Given the description of an element on the screen output the (x, y) to click on. 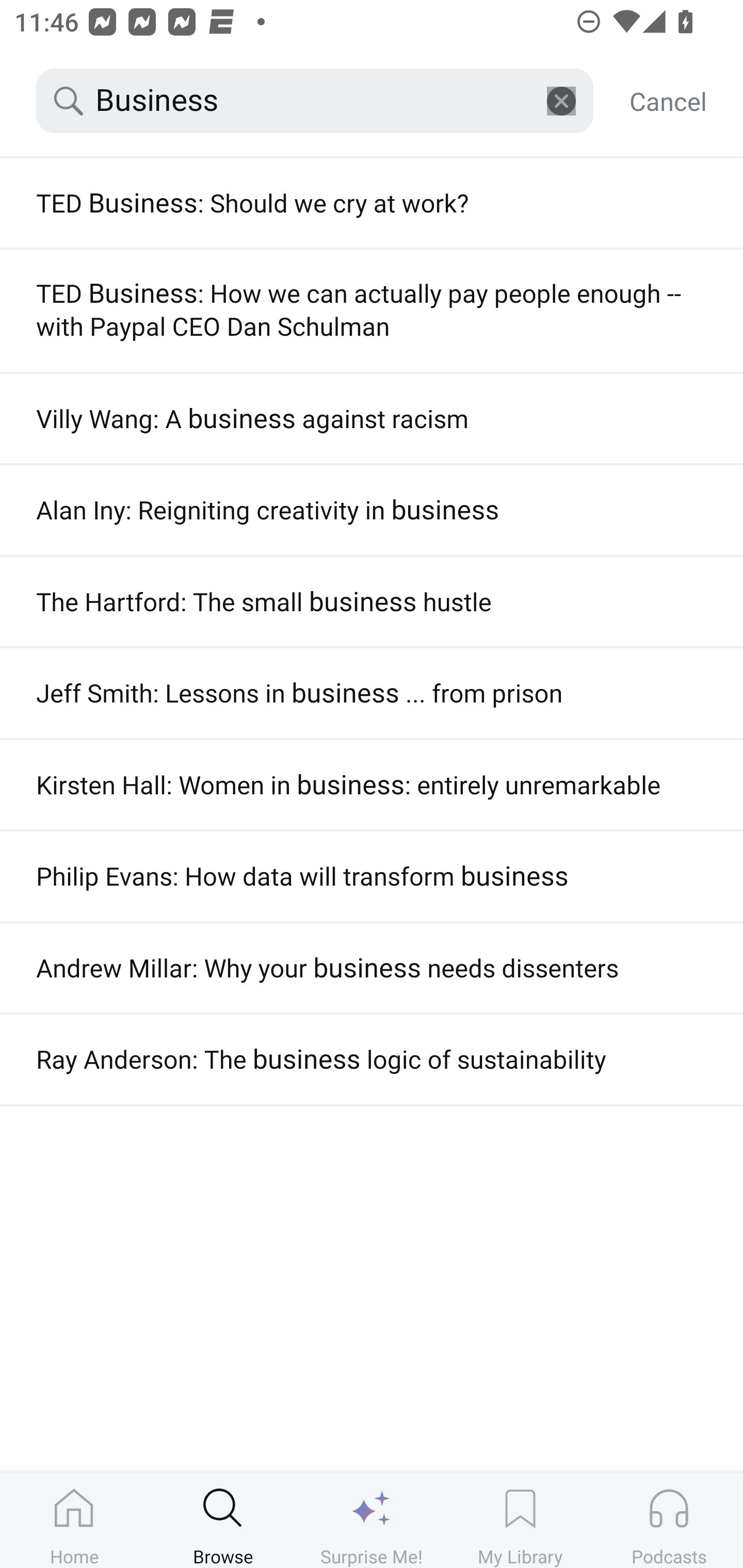
Business (314, 100)
Cancel (667, 100)
TED Business: Should we cry at work? (371, 202)
Villy Wang: A business against racism  (371, 418)
Alan Iny: Reigniting creativity in business (371, 510)
The Hartford: The small business hustle (371, 601)
Jeff Smith: Lessons in business ... from prison (371, 692)
Philip Evans: How data will transform business (371, 876)
Andrew Millar: Why your business needs dissenters (371, 967)
Ray Anderson: The business logic of sustainability (371, 1058)
Home (74, 1520)
Browse (222, 1520)
Surprise Me! (371, 1520)
My Library (519, 1520)
Podcasts (668, 1520)
